Given the description of an element on the screen output the (x, y) to click on. 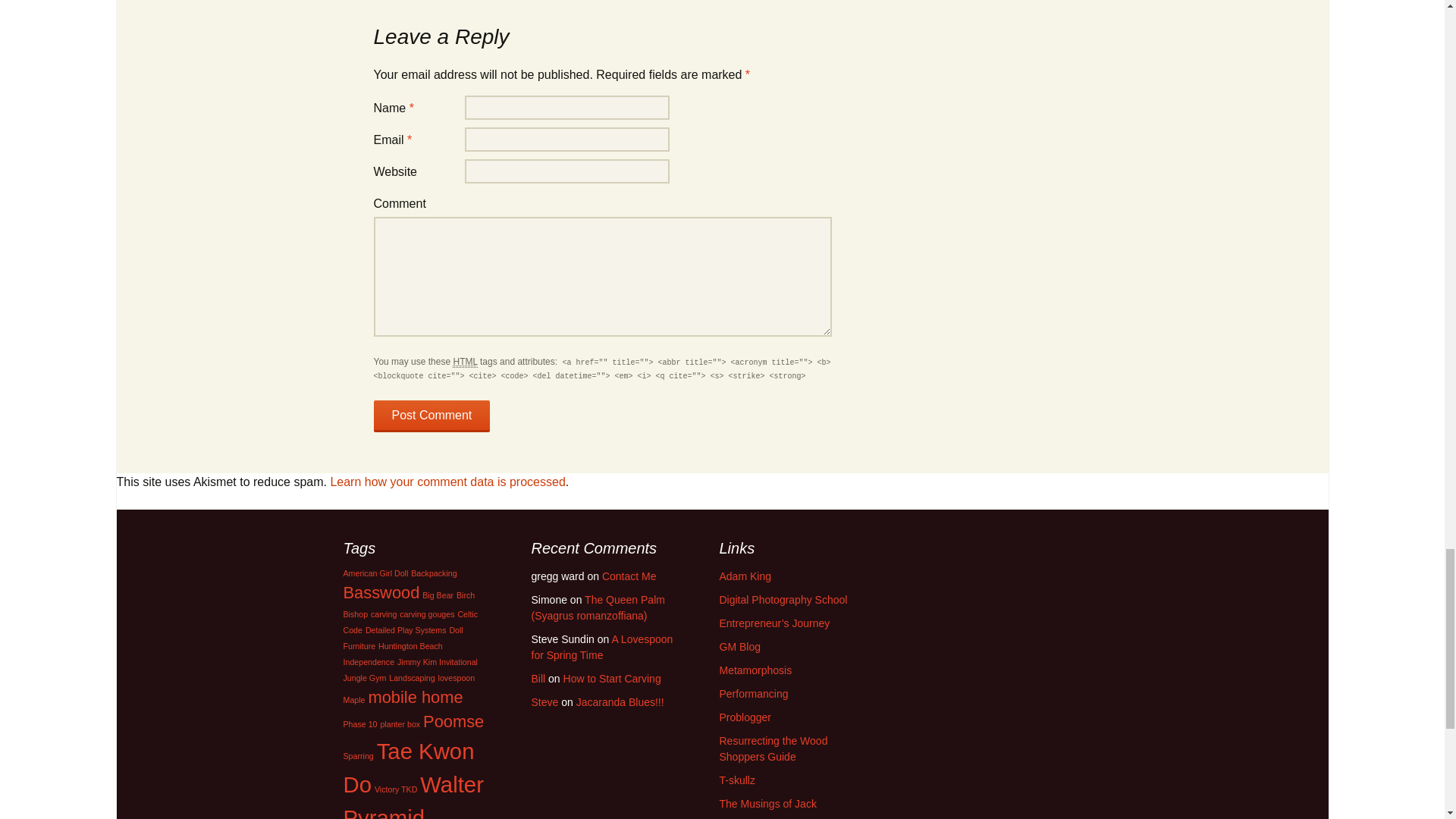
Post Comment (430, 416)
Post Comment (430, 416)
Backpacking (433, 573)
American Girl Doll (374, 573)
Learn how your comment data is processed (447, 481)
HyperText Markup Language (464, 361)
